Given the description of an element on the screen output the (x, y) to click on. 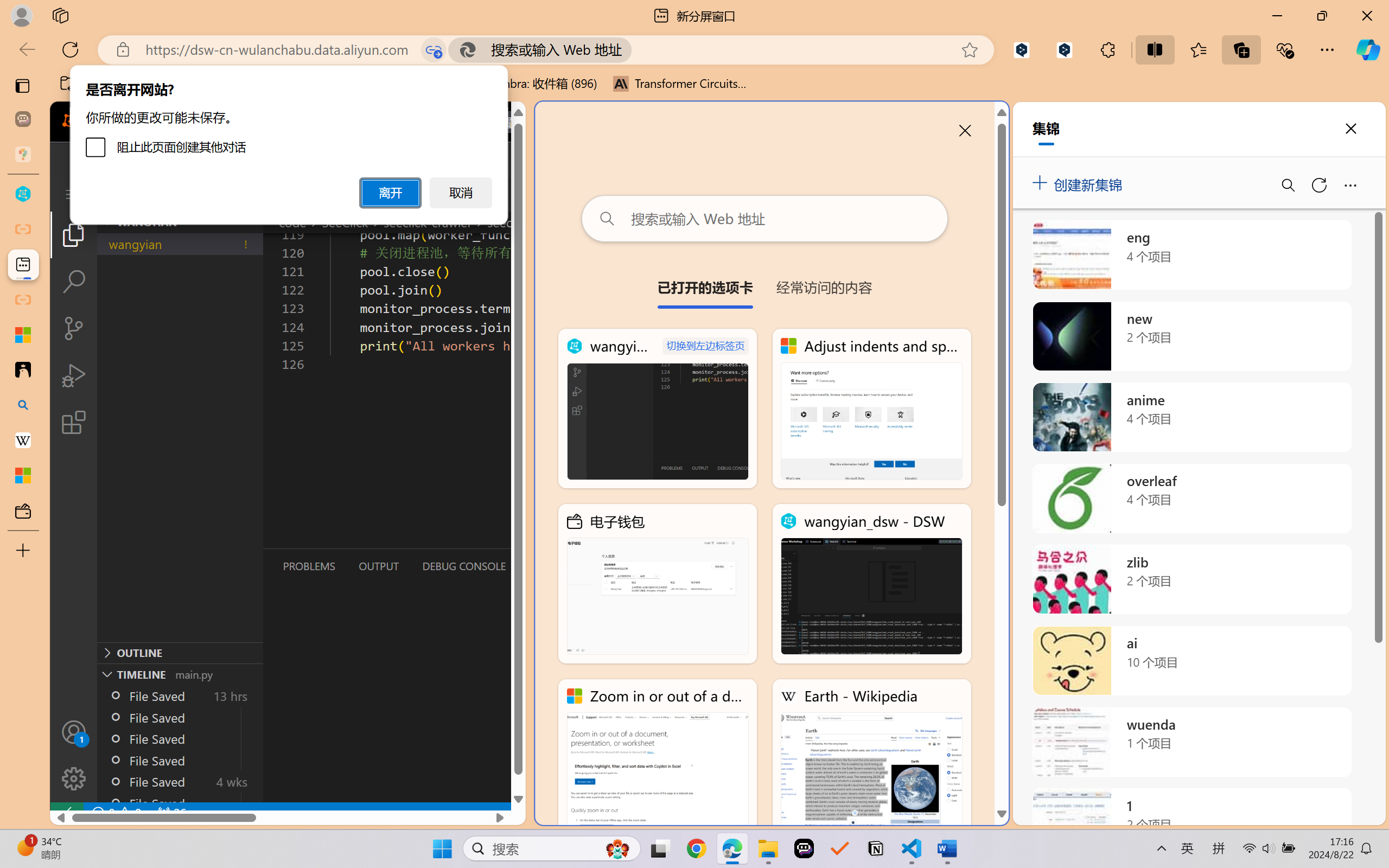
Debug Console (Ctrl+Shift+Y) (463, 565)
Manage (73, 755)
Extensions (Ctrl+Shift+X) (73, 422)
Terminal (Ctrl+`) (553, 565)
Accounts - Sign in requested (73, 732)
